Given the description of an element on the screen output the (x, y) to click on. 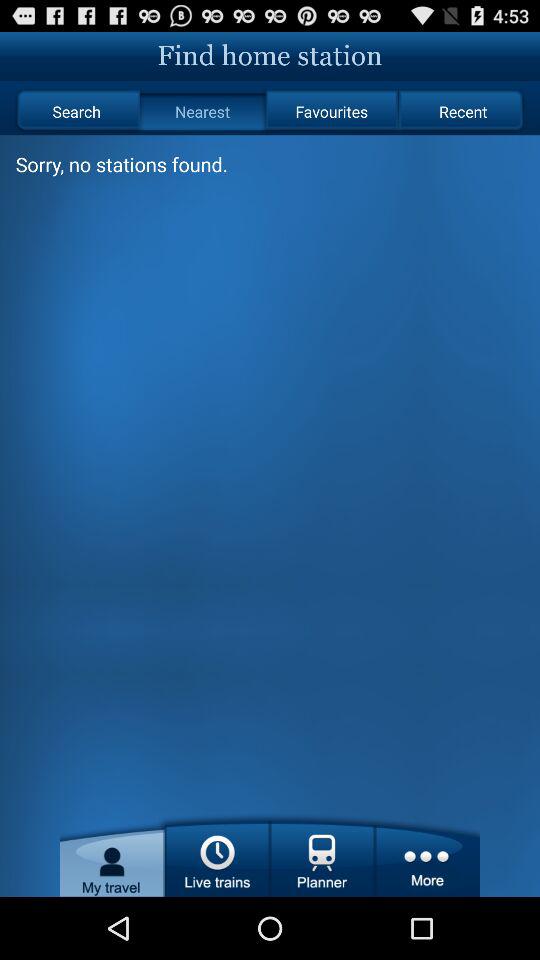
turn off item to the right of favourites (462, 111)
